Given the description of an element on the screen output the (x, y) to click on. 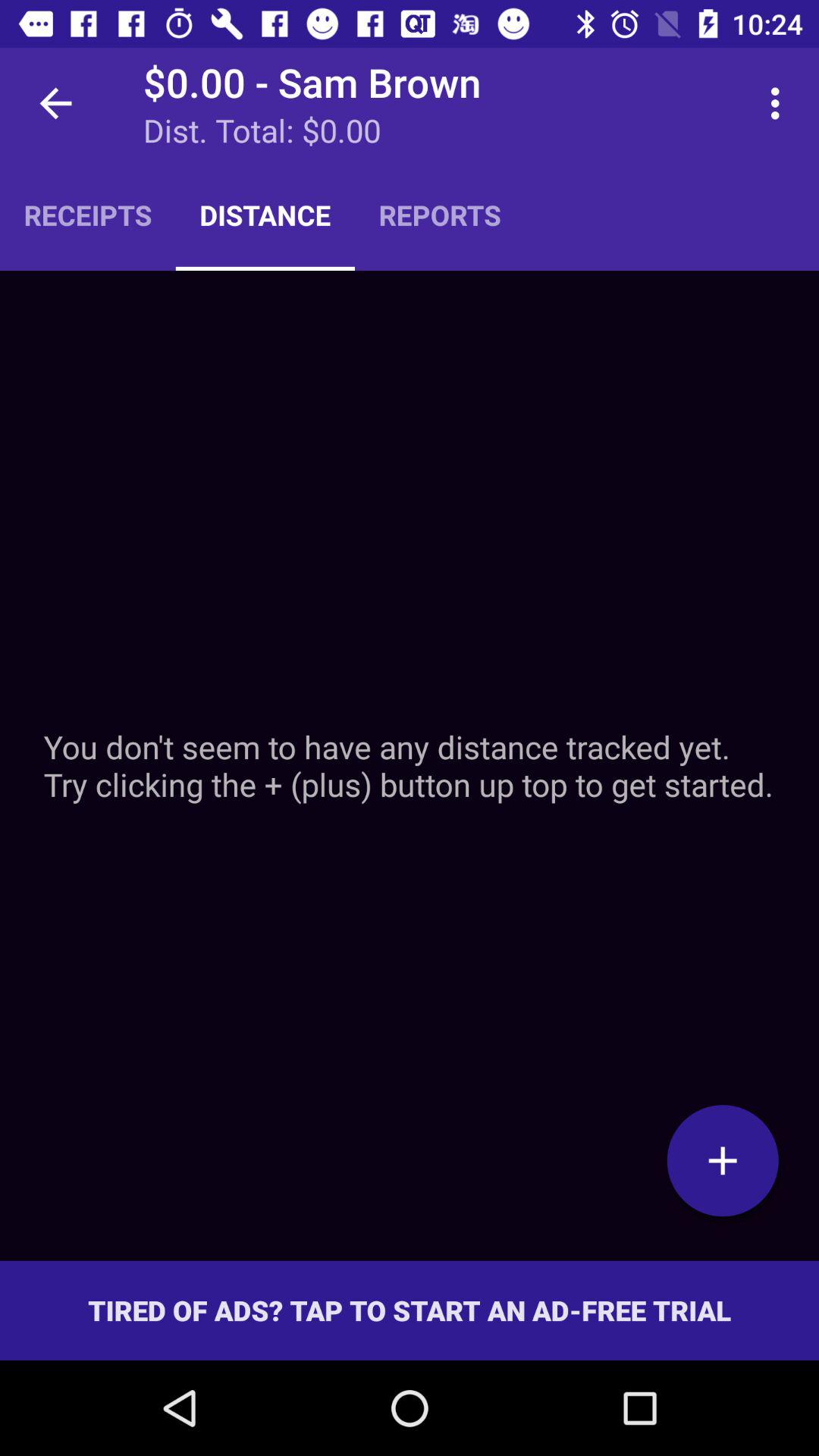
launch the receipts icon (87, 214)
